Given the description of an element on the screen output the (x, y) to click on. 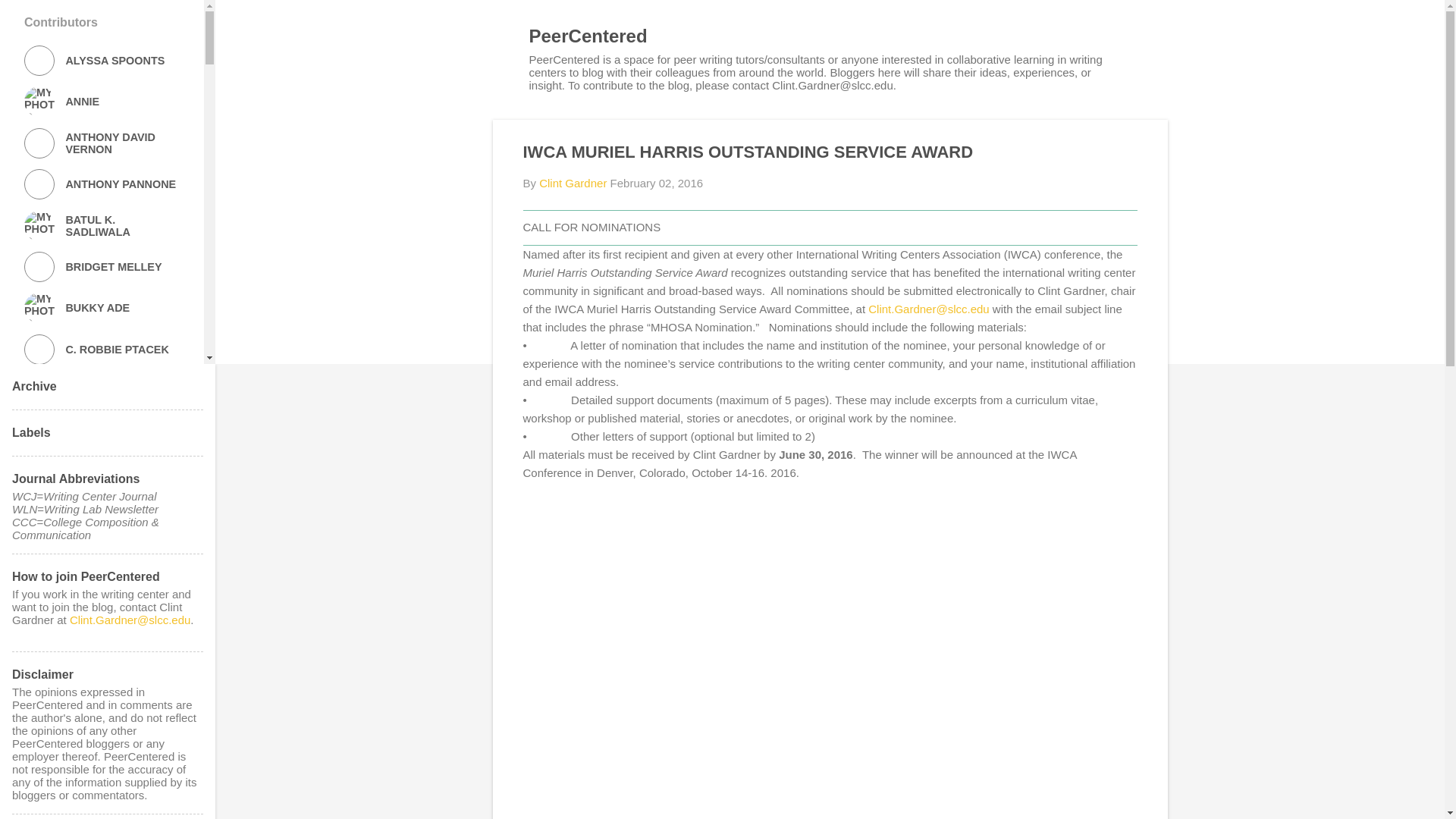
ANNIE (101, 101)
BATUL K. SADLIWALA (101, 225)
ANTHONY DAVID VERNON (101, 142)
Clint Gardner (572, 182)
author profile (572, 182)
BRIDGET MELLEY (101, 266)
Search (29, 18)
February 02, 2016 (656, 182)
ANTHONY PANNONE (101, 183)
ALYSSA SPOONTS (101, 60)
Email Post (531, 561)
PeerCentered (588, 35)
permanent link (656, 182)
